Given the description of an element on the screen output the (x, y) to click on. 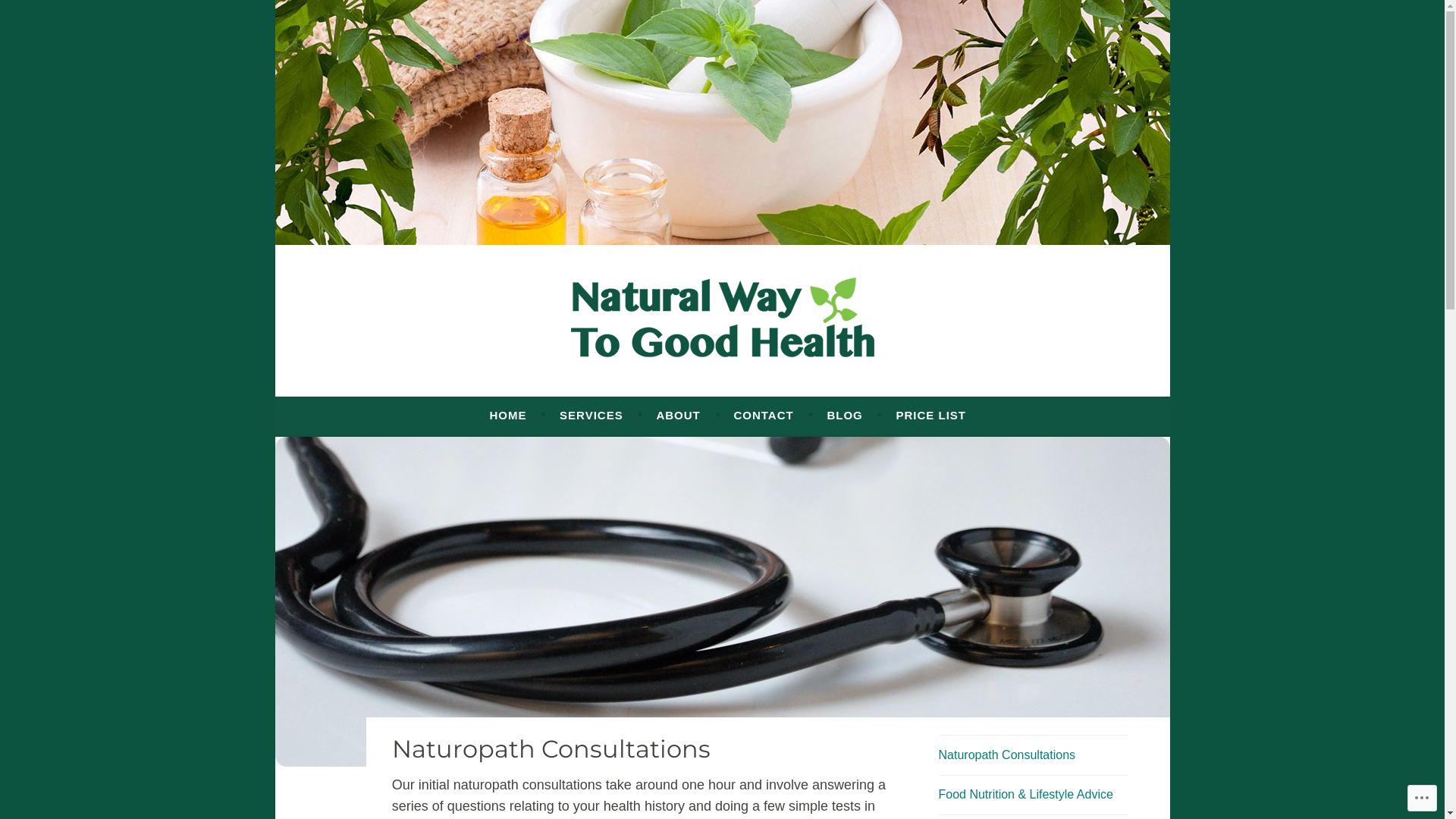
HOME Element type: text (507, 415)
Naturopath Consultations Element type: text (1007, 754)
NATURAL WAY TO GOOD HEALTH Element type: text (620, 389)
PRICE LIST Element type: text (930, 415)
ABOUT Element type: text (677, 415)
SERVICES Element type: text (591, 415)
CONTACT Element type: text (763, 415)
Food Nutrition & Lifestyle Advice Element type: text (1025, 793)
BLOG Element type: text (844, 415)
